Given the description of an element on the screen output the (x, y) to click on. 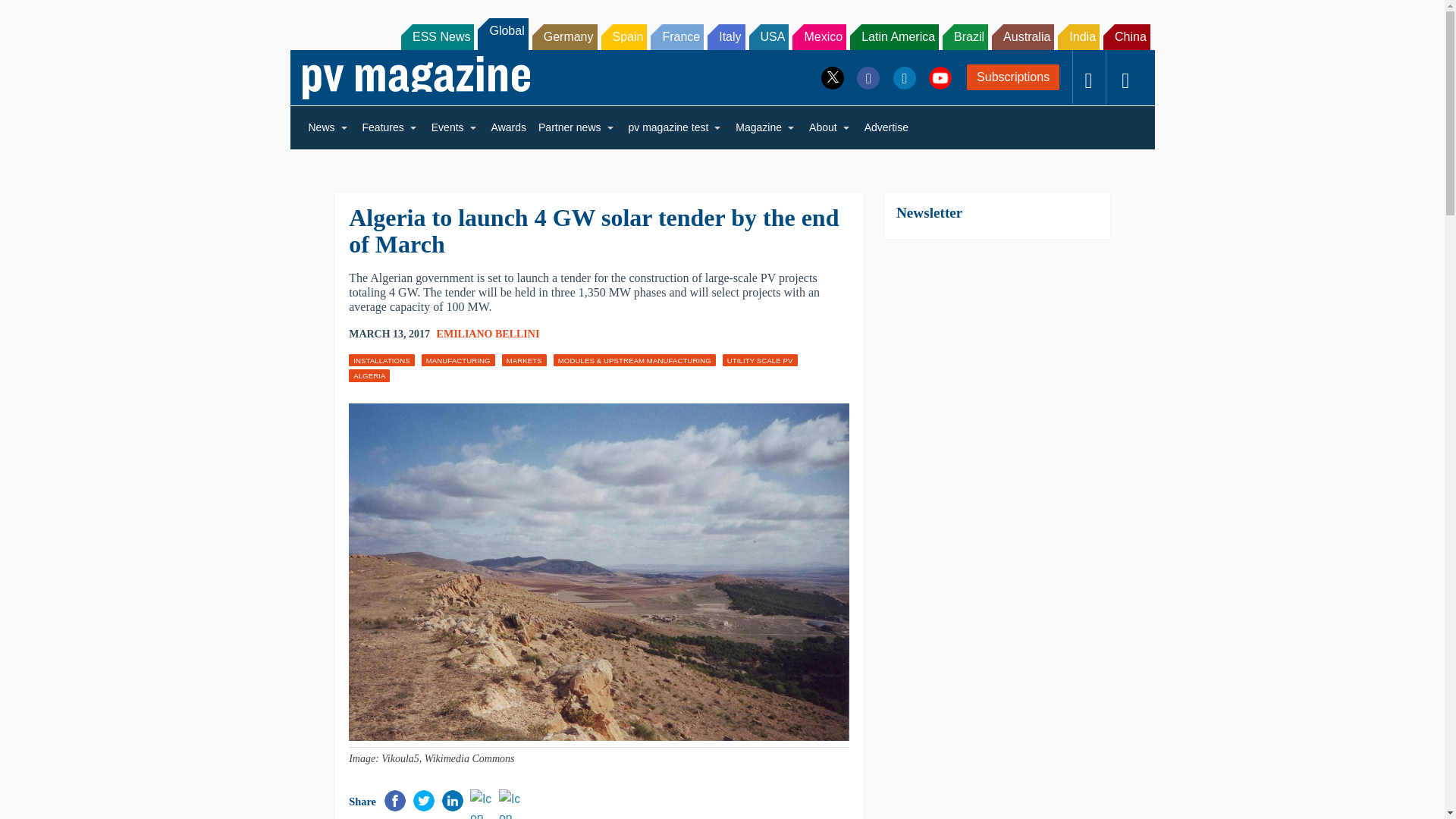
Monday, March 13, 2017, 9:27 am (389, 334)
Spain (622, 36)
Australia (1022, 36)
pv magazine - Photovoltaics Markets and Technology (415, 77)
Posts by Emiliano Bellini (488, 333)
India (1078, 36)
Global (502, 33)
Germany (564, 36)
Subscriptions (1012, 77)
Brazil (965, 36)
